Given the description of an element on the screen output the (x, y) to click on. 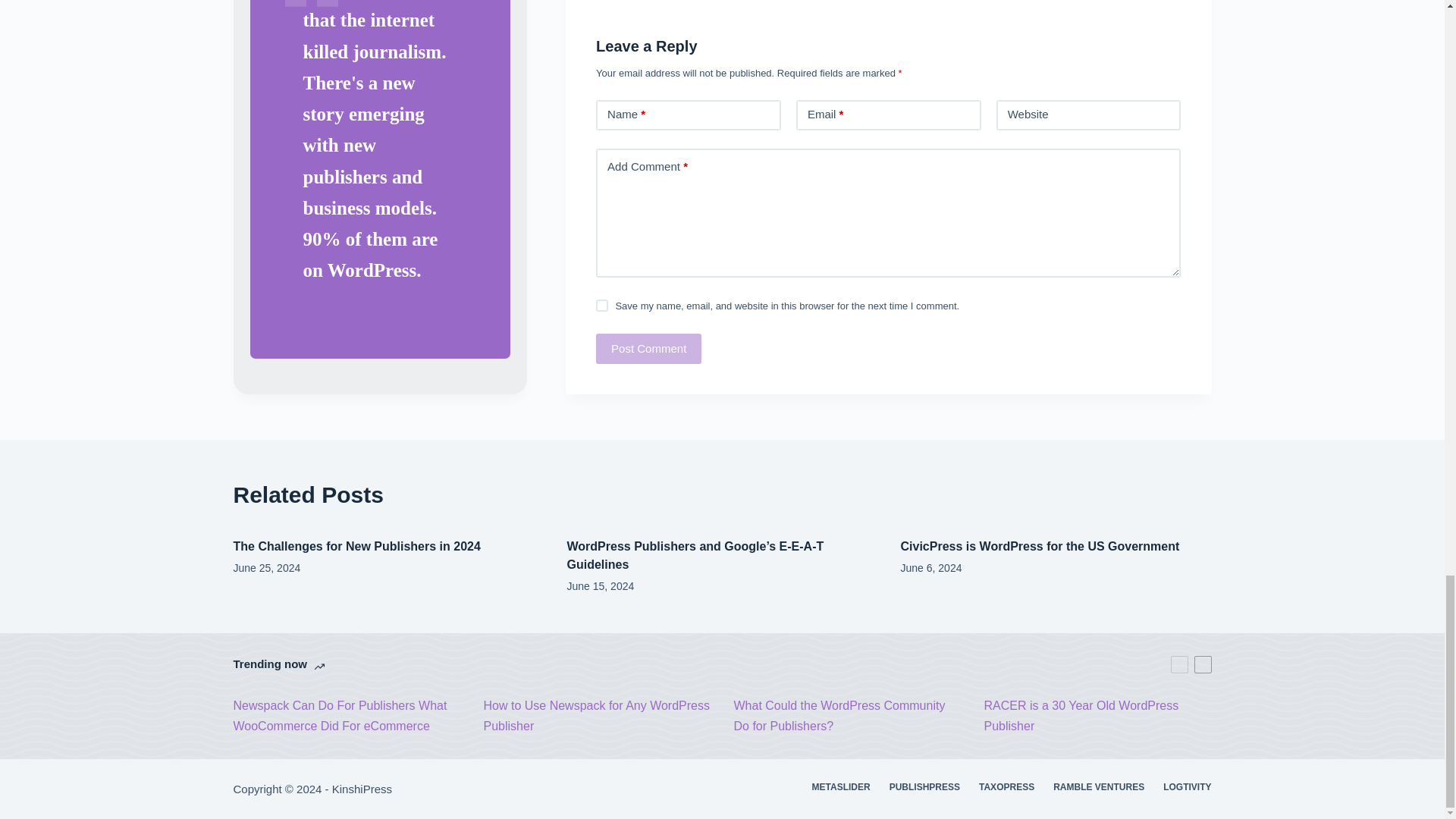
Post Comment (648, 348)
yes (601, 305)
